Given the description of an element on the screen output the (x, y) to click on. 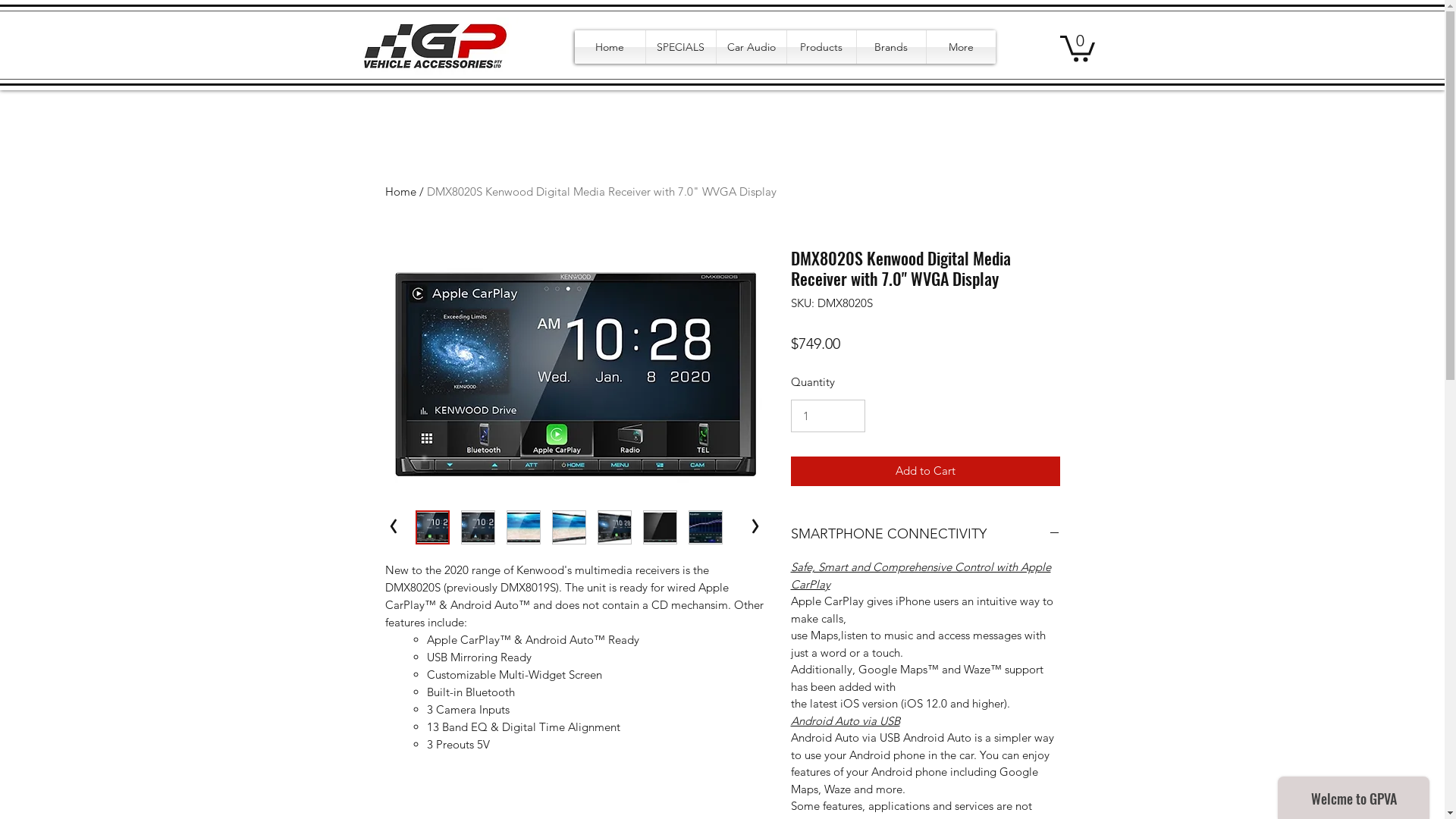
Add to Cart Element type: text (924, 471)
Products Element type: text (821, 46)
Brands Element type: text (890, 46)
Home Element type: text (609, 46)
SPECIALS Element type: text (680, 46)
SMARTPHONE CONNECTIVITY Element type: text (924, 534)
Home Element type: text (400, 191)
0 Element type: text (1077, 47)
Car Audio Element type: text (750, 46)
